Given the description of an element on the screen output the (x, y) to click on. 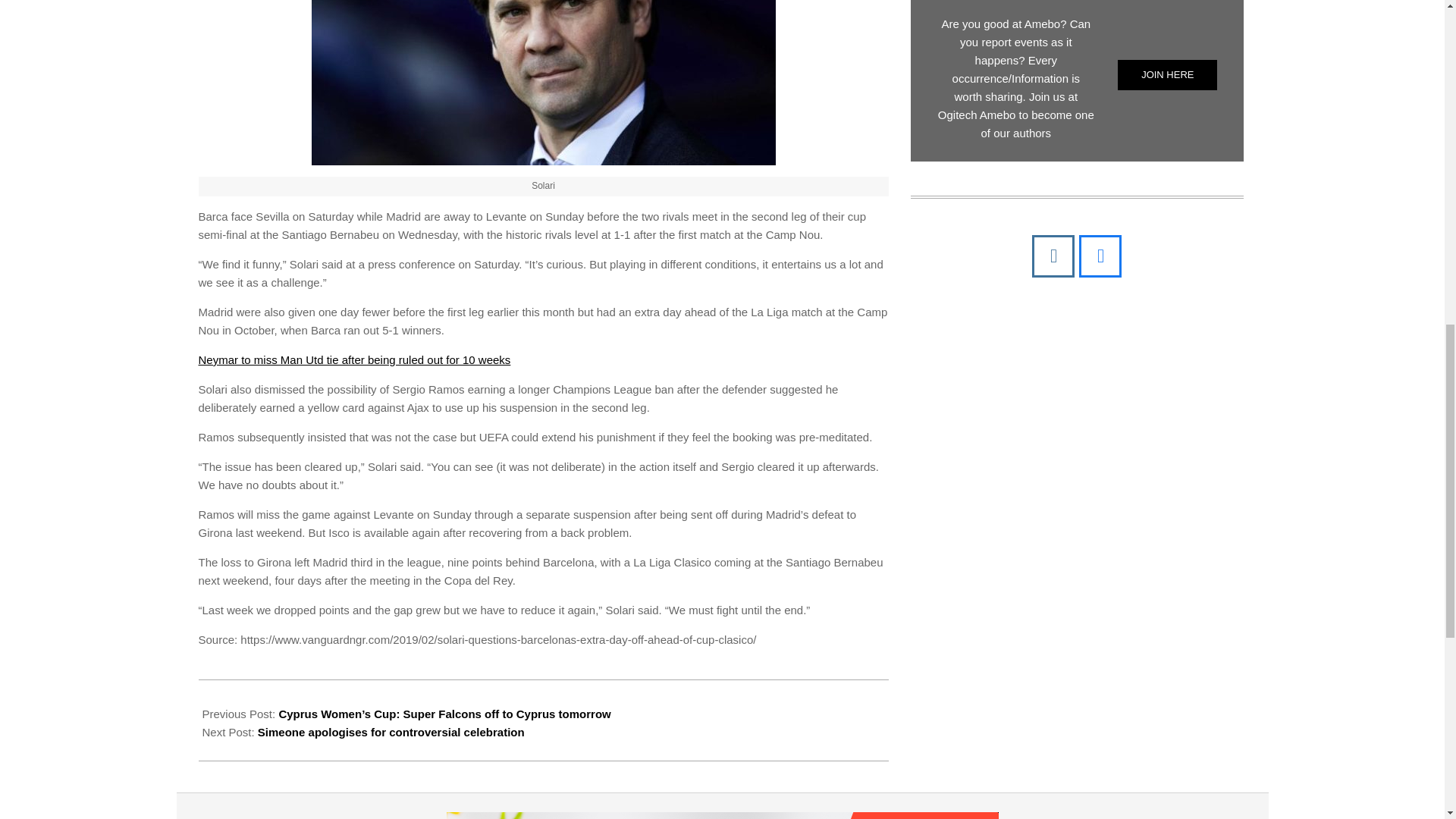
Simeone apologises for controversial celebration (390, 731)
JOIN HERE (1167, 74)
